Given the description of an element on the screen output the (x, y) to click on. 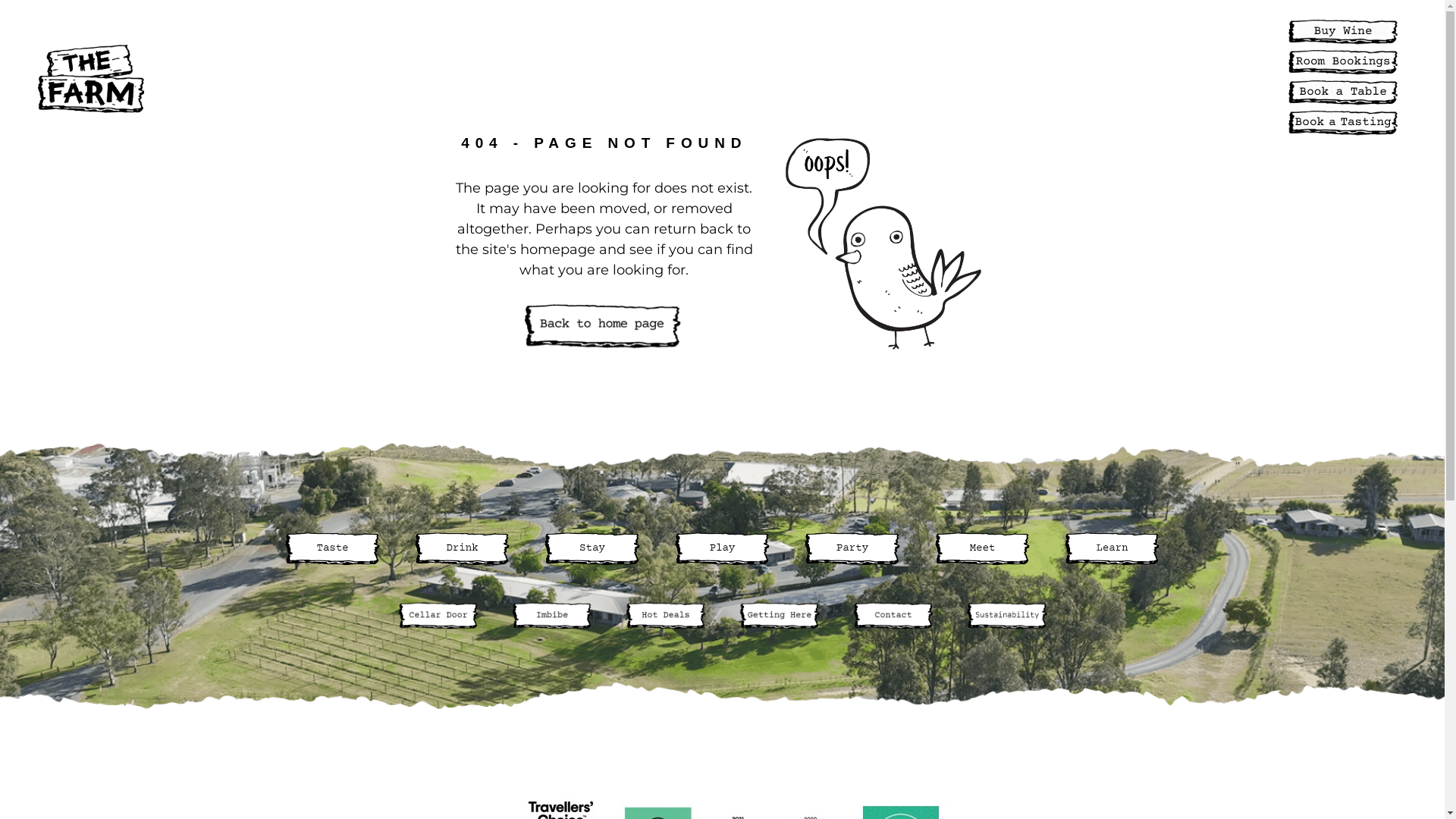
sustainability-Button-1 copy Element type: hover (1006, 615)
Stay-5 Element type: hover (591, 547)
Hot Deals-7 Element type: hover (664, 615)
PLAY Element type: text (474, 76)
CONTACT Element type: text (1225, 76)
CELLAR DOOR Element type: text (755, 76)
2 Element type: hover (461, 547)
MEET Element type: text (598, 76)
3-7 copy Element type: hover (1342, 92)
Contact-12 Element type: hover (892, 615)
Play-6 Element type: hover (721, 547)
The-Farm-Logo Element type: hover (90, 78)
3 Element type: hover (331, 547)
IMBIBE Element type: text (920, 76)
Learn-10 Element type: hover (1111, 547)
FINAL The Farm Buttons Element type: hover (604, 327)
Cellar Door-11 Element type: hover (437, 615)
Party-4 Element type: hover (851, 547)
3-8 copy Element type: hover (1342, 31)
MENUS Element type: text (850, 76)
oops Element type: hover (882, 243)
GETTING HERE Element type: text (1119, 76)
Getting Here-1 Element type: hover (778, 615)
STAY Element type: text (417, 76)
TASTE Element type: text (291, 76)
DRINK Element type: text (357, 76)
3-6 copy Element type: hover (1342, 62)
LEARN Element type: text (661, 76)
HOT DEALS Element type: text (1007, 76)
Meet-8 Element type: hover (982, 547)
Imbibe-9 Element type: hover (551, 615)
3-5 copy Element type: hover (1342, 122)
PARTY Element type: text (536, 76)
